Given the description of an element on the screen output the (x, y) to click on. 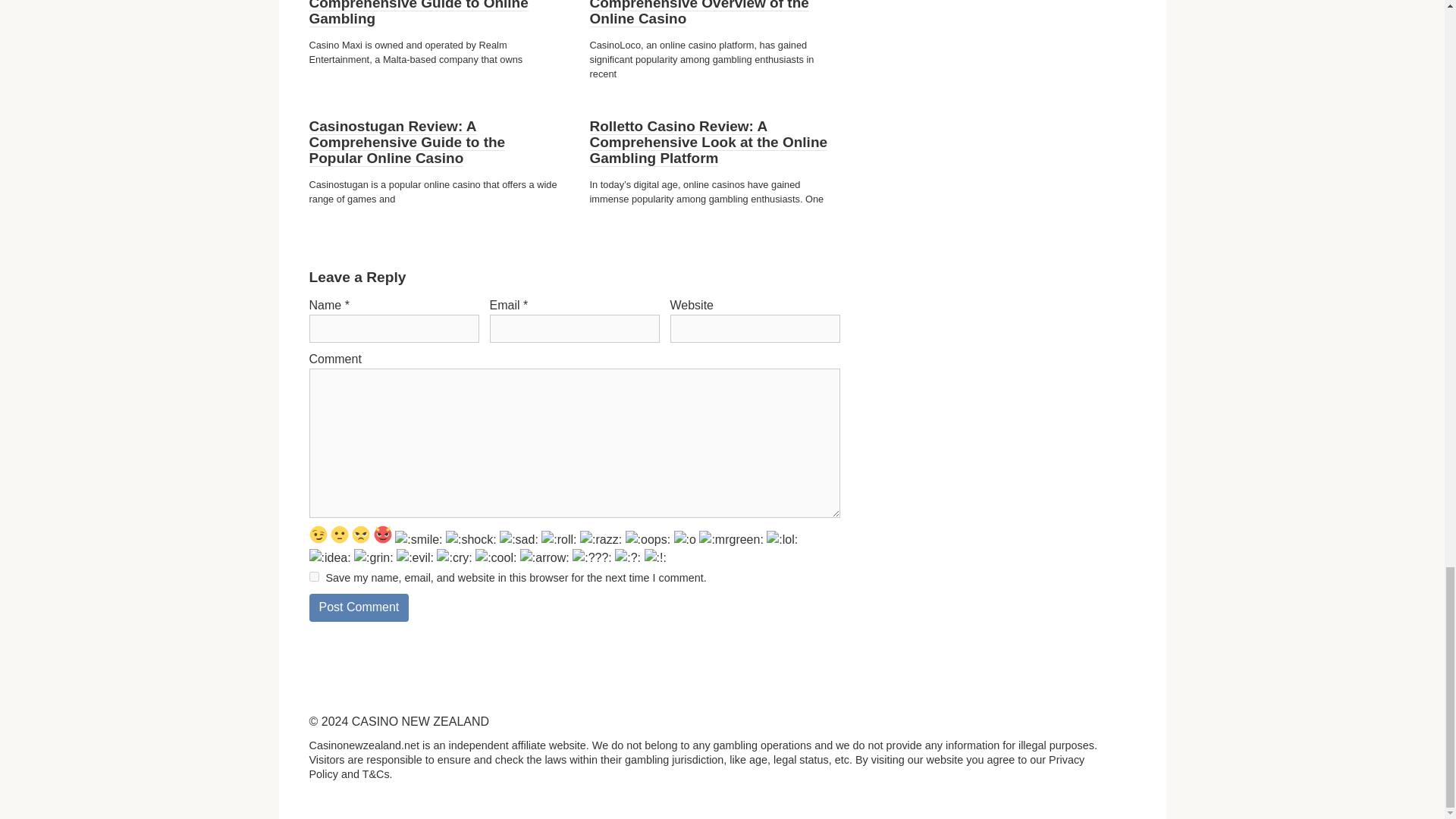
Post Comment (358, 607)
Casino Maxi Review: A Comprehensive Guide to Online Gambling (418, 13)
yes (313, 576)
Post Comment (358, 607)
